Given the description of an element on the screen output the (x, y) to click on. 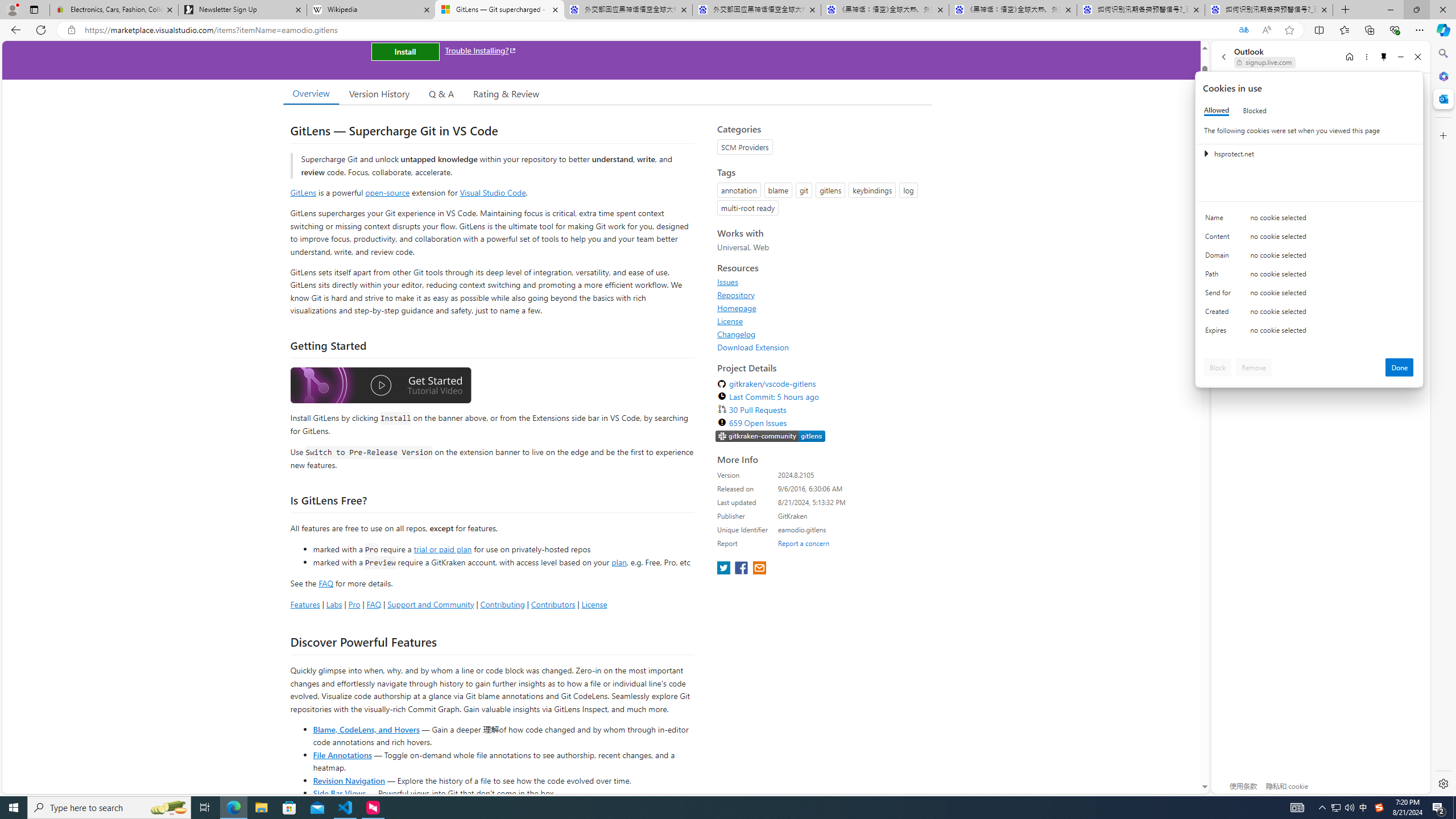
Expires (1219, 332)
Domain (1219, 257)
Send for (1219, 295)
Block (1217, 367)
Done (1399, 367)
Name (1219, 220)
Content (1219, 239)
Remove (1253, 367)
Created (1219, 313)
no cookie selected (1331, 332)
Allowed (1216, 110)
Class: c0153 c0157 (1309, 332)
Blocked (1255, 110)
Class: c0153 c0157 c0154 (1309, 220)
Path (1219, 276)
